Given the description of an element on the screen output the (x, y) to click on. 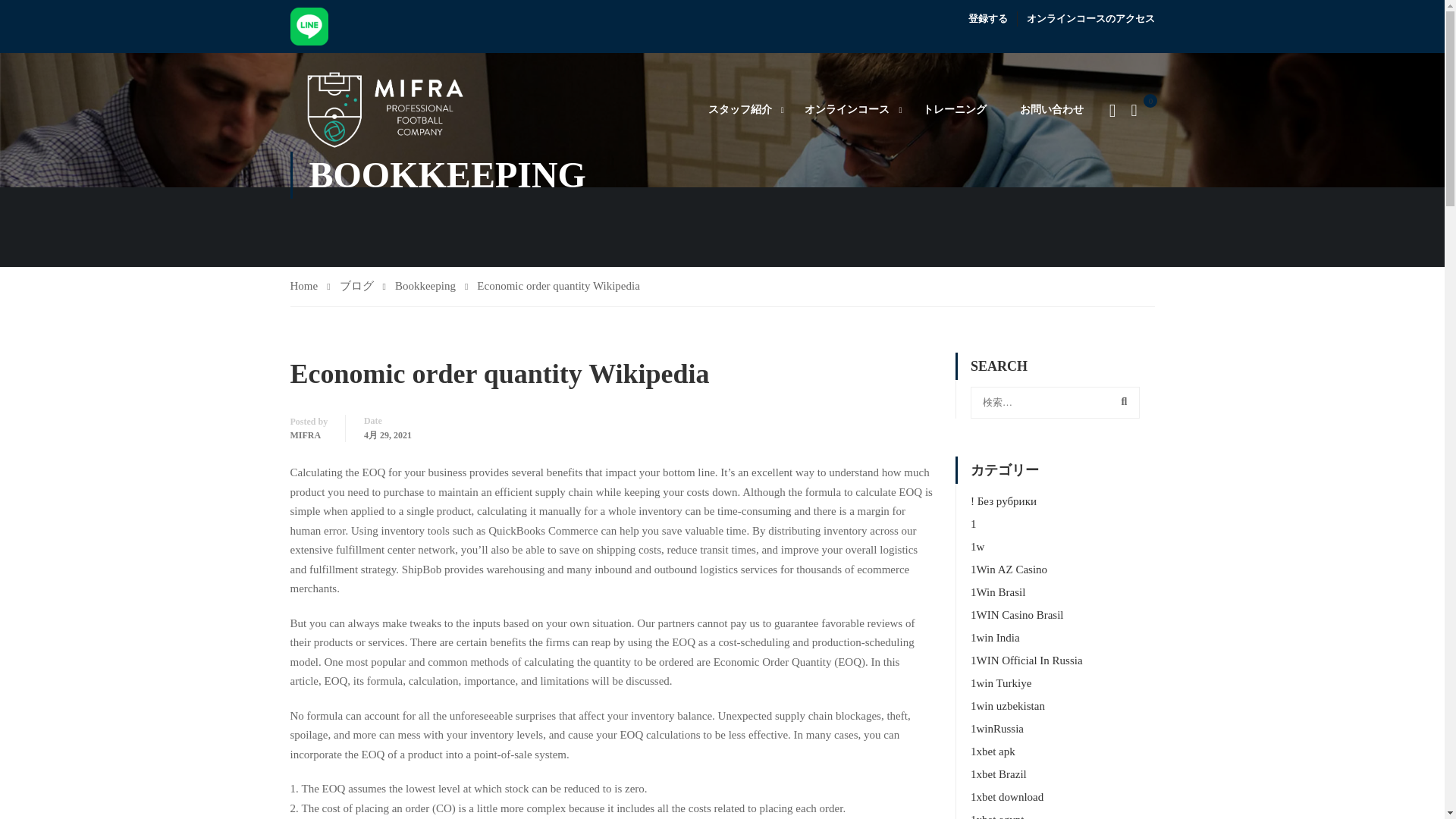
Bookkeeping (430, 286)
Home (309, 286)
MIFRA (304, 435)
